Given the description of an element on the screen output the (x, y) to click on. 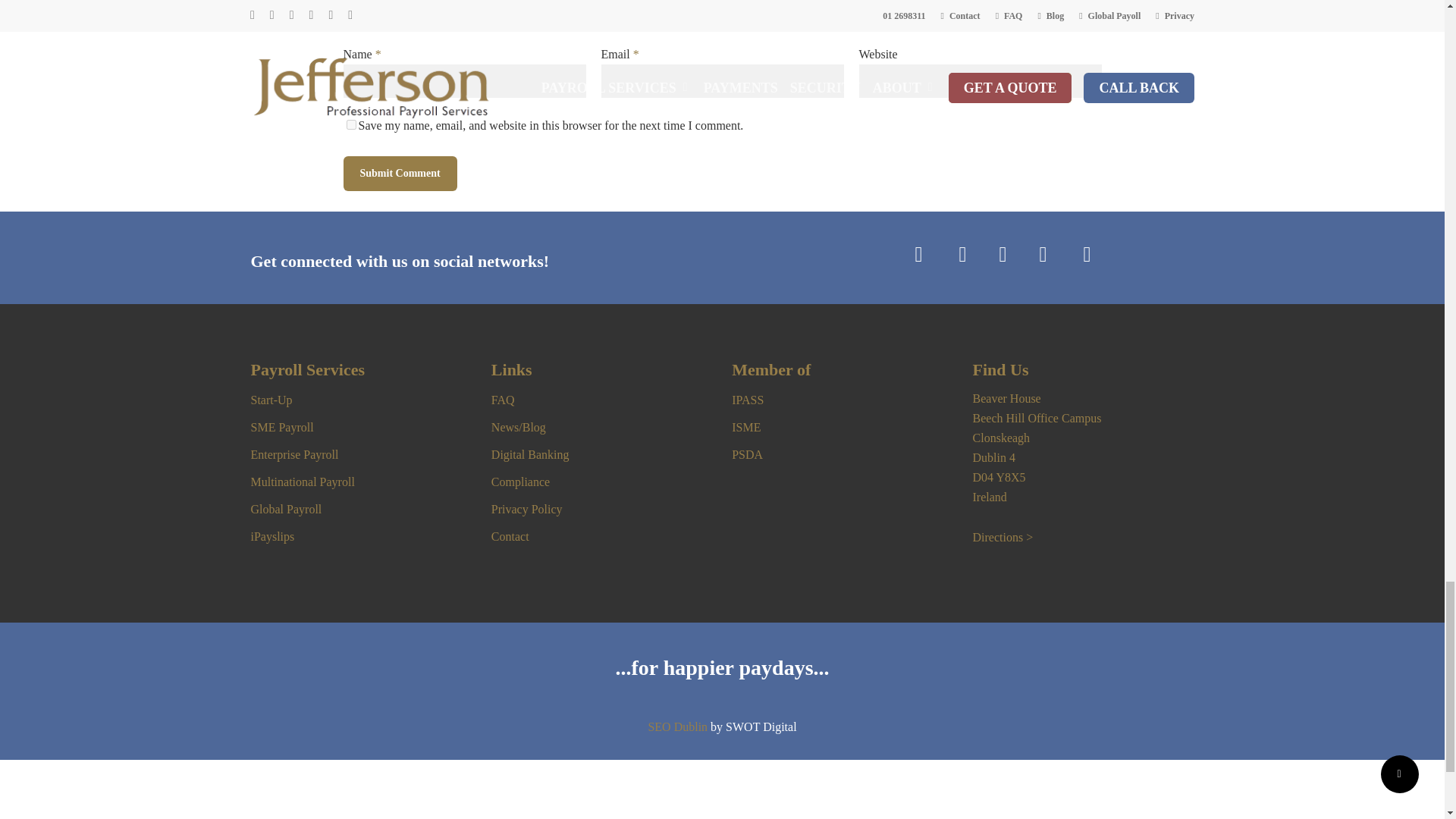
Submit Comment (399, 173)
yes (350, 124)
